Given the description of an element on the screen output the (x, y) to click on. 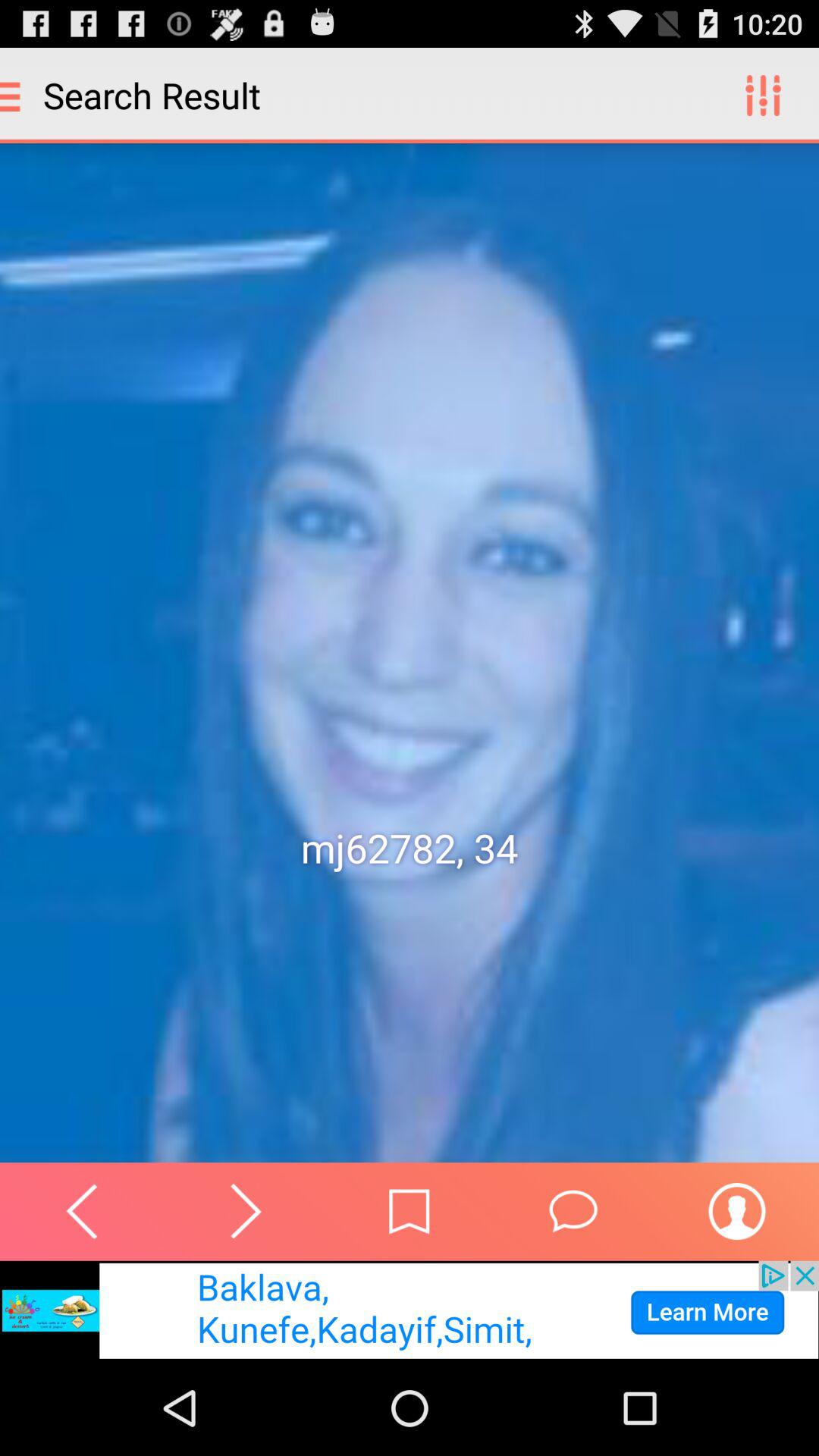
open persons information (737, 1211)
